Given the description of an element on the screen output the (x, y) to click on. 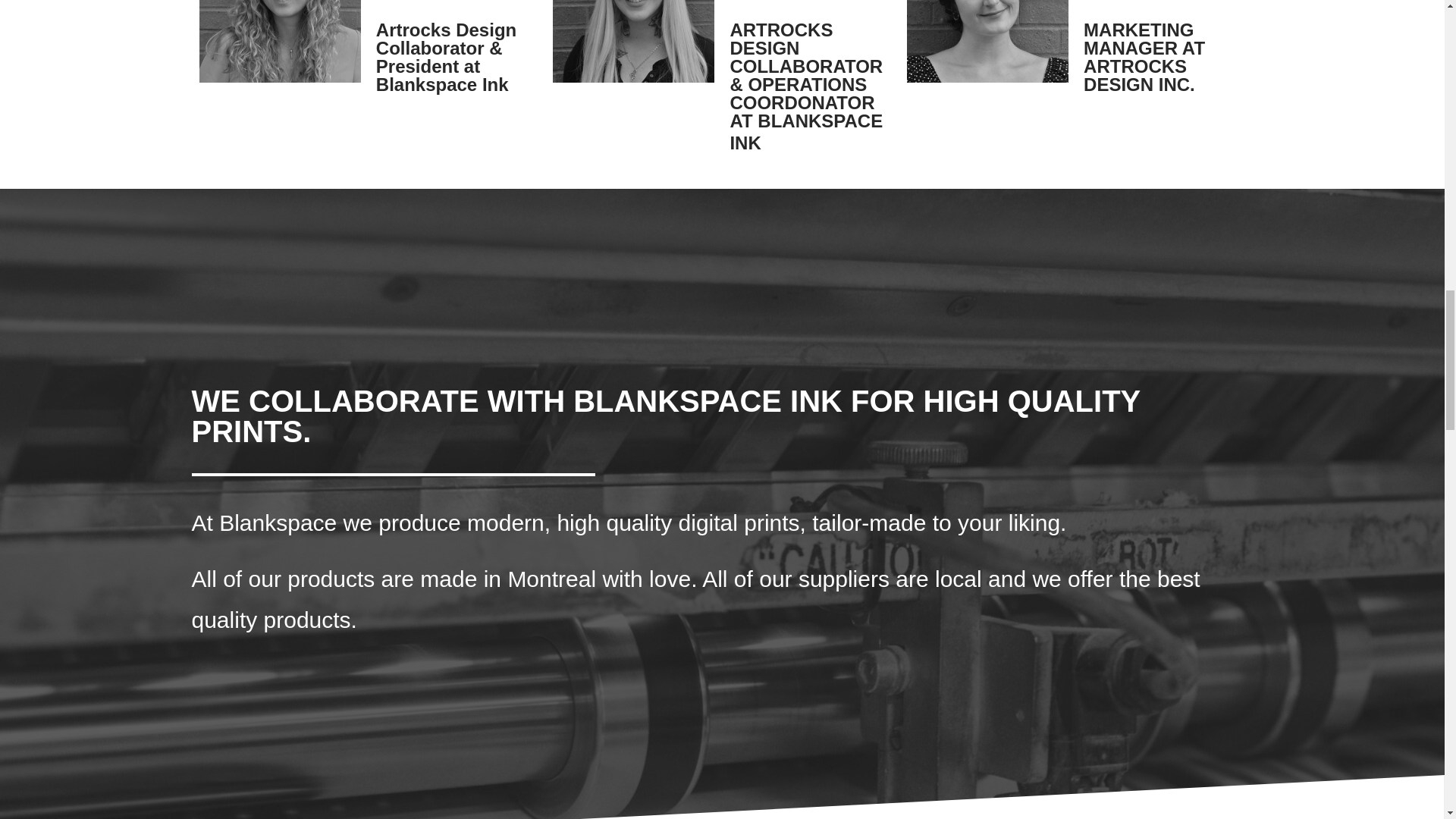
eli-greycrop (987, 41)
roxanne-greycrop (633, 41)
laurence-grey-crop (278, 41)
